Given the description of an element on the screen output the (x, y) to click on. 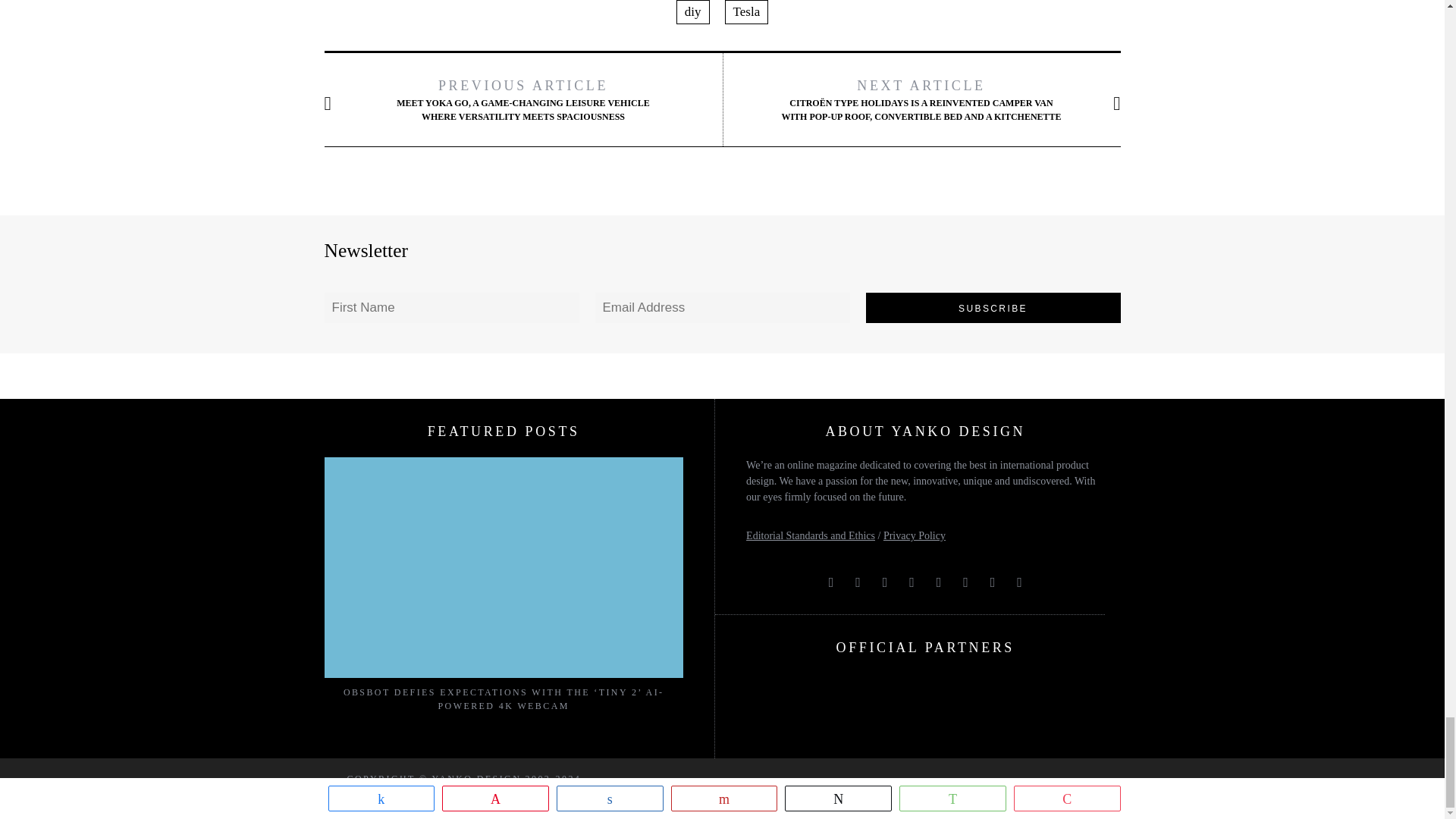
Editorial Standards and Ethics (810, 535)
Subscribe (993, 307)
Privacy Policy (913, 535)
